Given the description of an element on the screen output the (x, y) to click on. 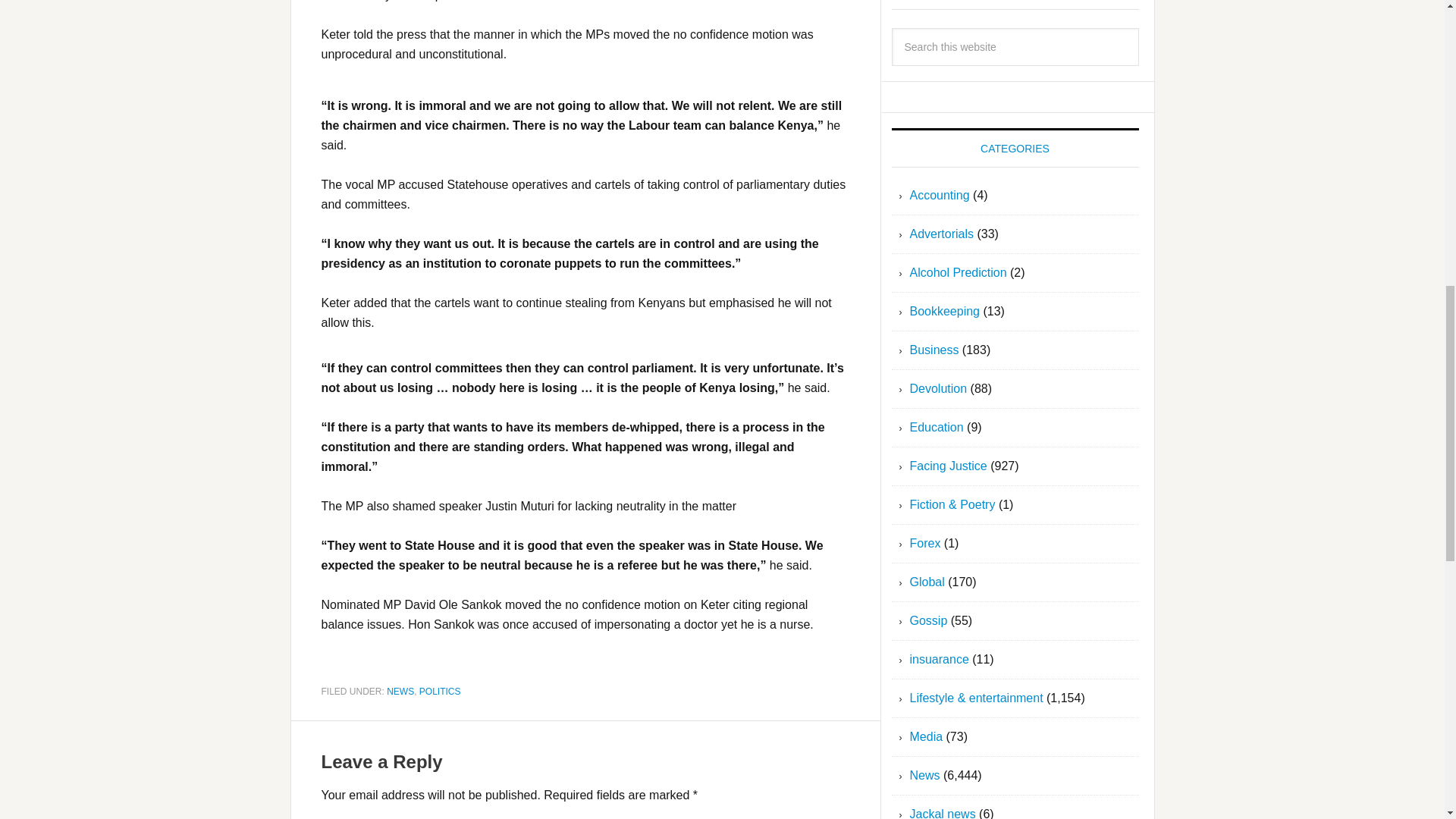
Forex (925, 543)
Media (926, 736)
NEWS (400, 690)
Advertorials (942, 233)
News (925, 775)
Facing Justice (948, 465)
Education (936, 427)
Gossip (928, 620)
Bookkeeping (944, 310)
Devolution (939, 388)
Alcohol Prediction (958, 272)
Jackal news (942, 813)
